Given the description of an element on the screen output the (x, y) to click on. 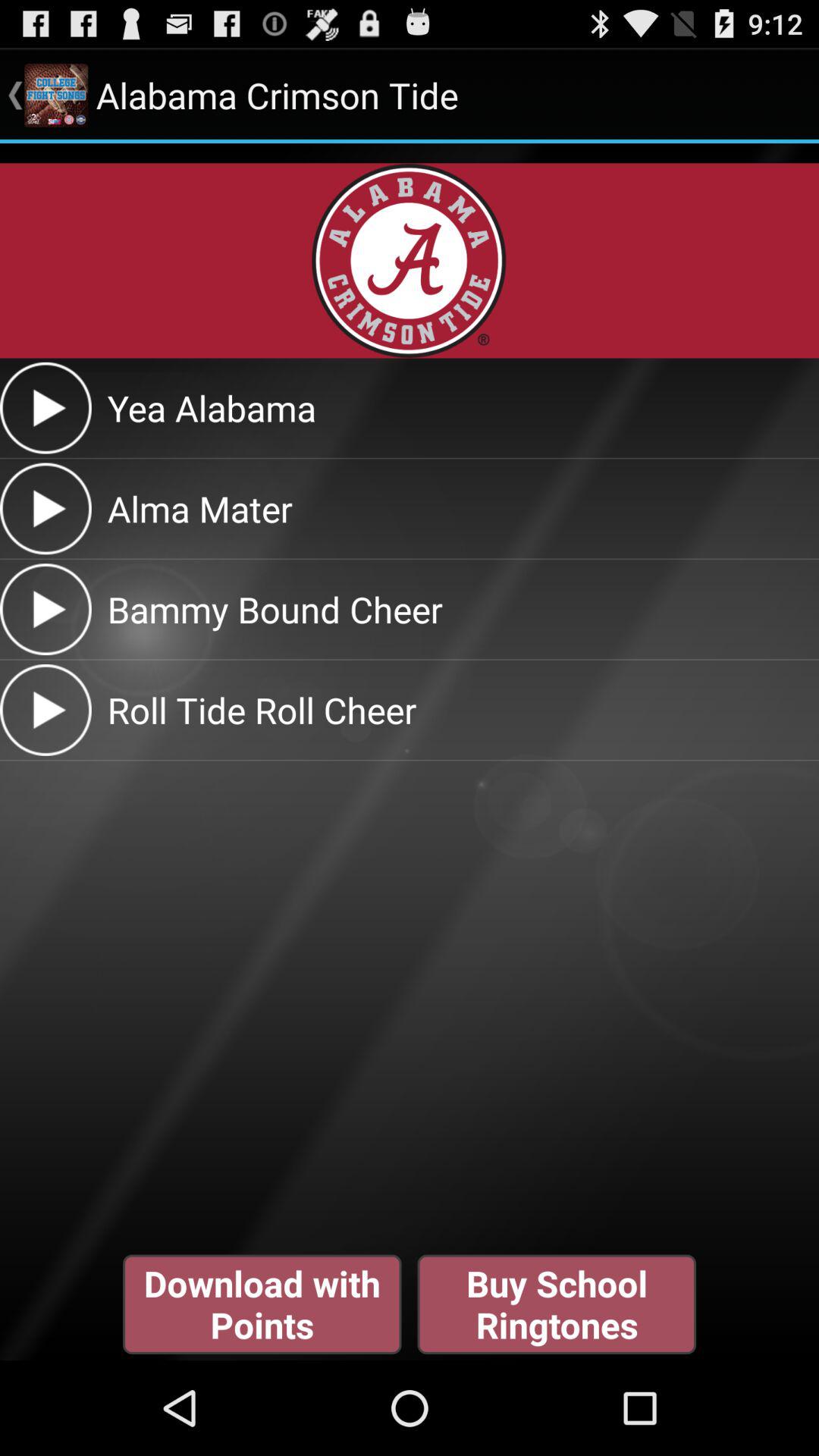
play song (45, 508)
